Given the description of an element on the screen output the (x, y) to click on. 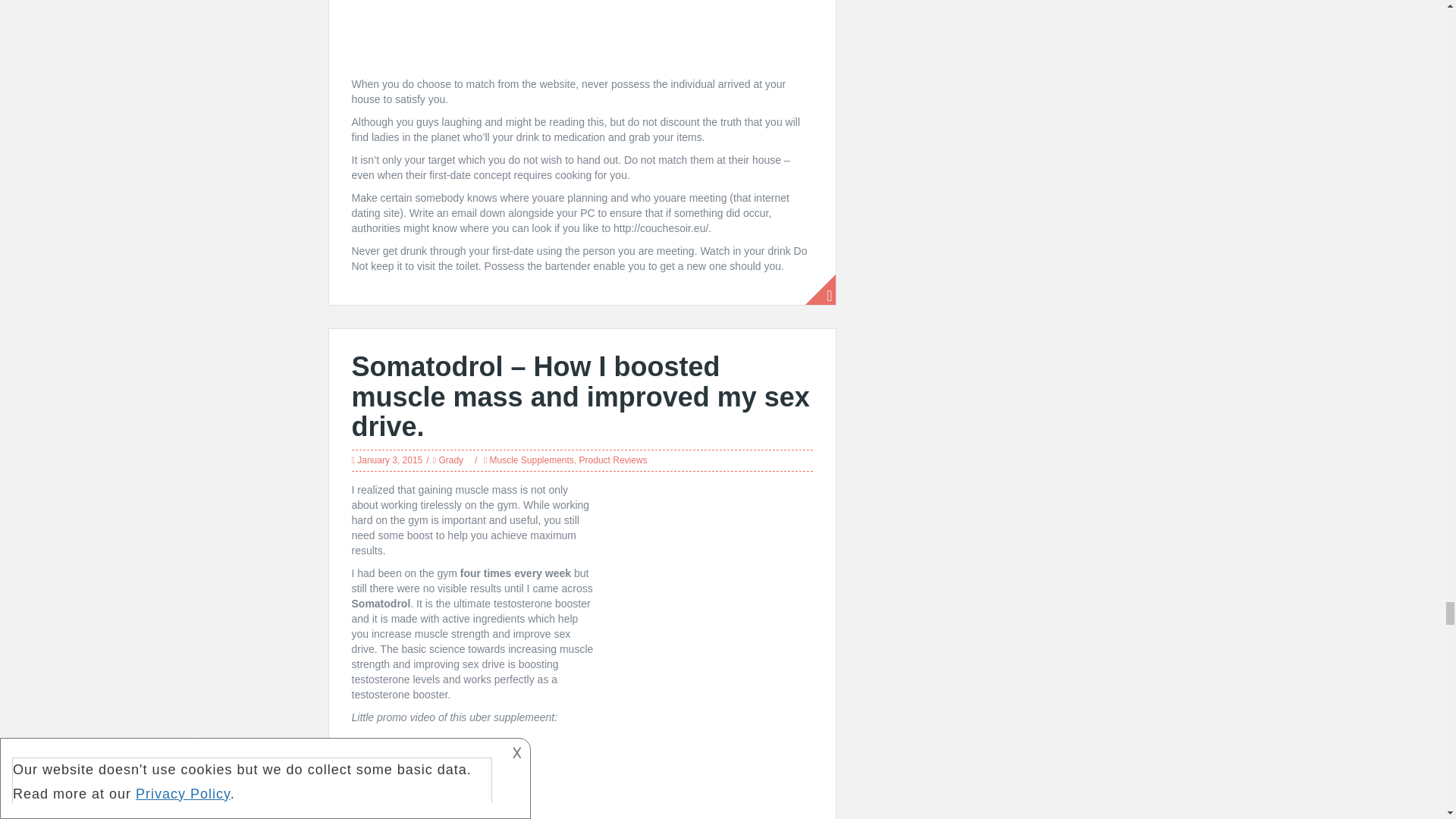
SOMATODROL (582, 776)
